Given the description of an element on the screen output the (x, y) to click on. 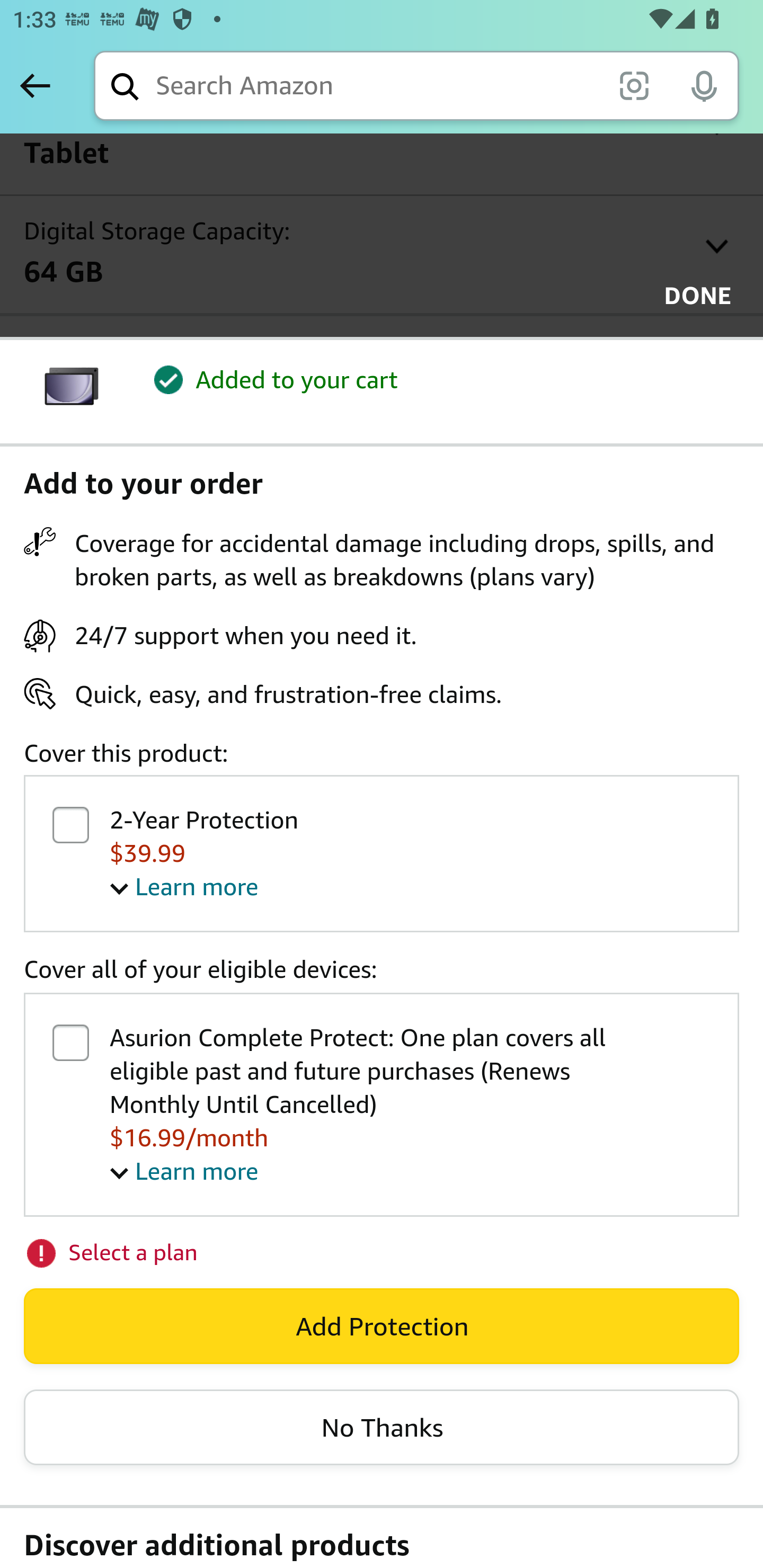
Back (35, 85)
scan it (633, 85)
DONE (691, 295)
Learn more (184, 886)
Learn more (184, 1171)
Add Protection (381, 1326)
No Thanks (381, 1426)
